Given the description of an element on the screen output the (x, y) to click on. 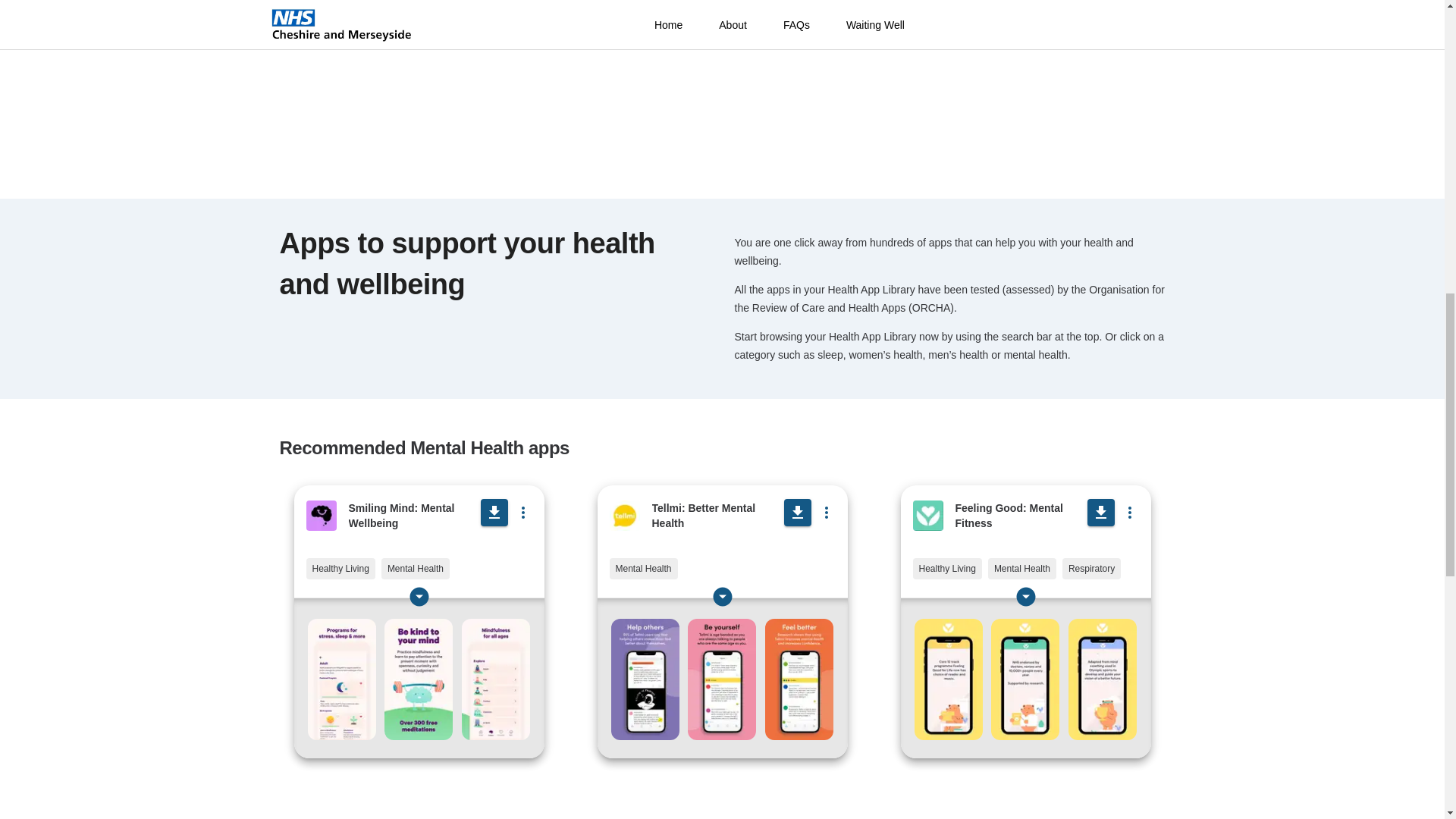
Download this app (494, 512)
Download this app (797, 512)
Menu for this app (825, 512)
Menu for this app (523, 512)
Menu for this app (1129, 512)
Download this app (1101, 512)
